Given the description of an element on the screen output the (x, y) to click on. 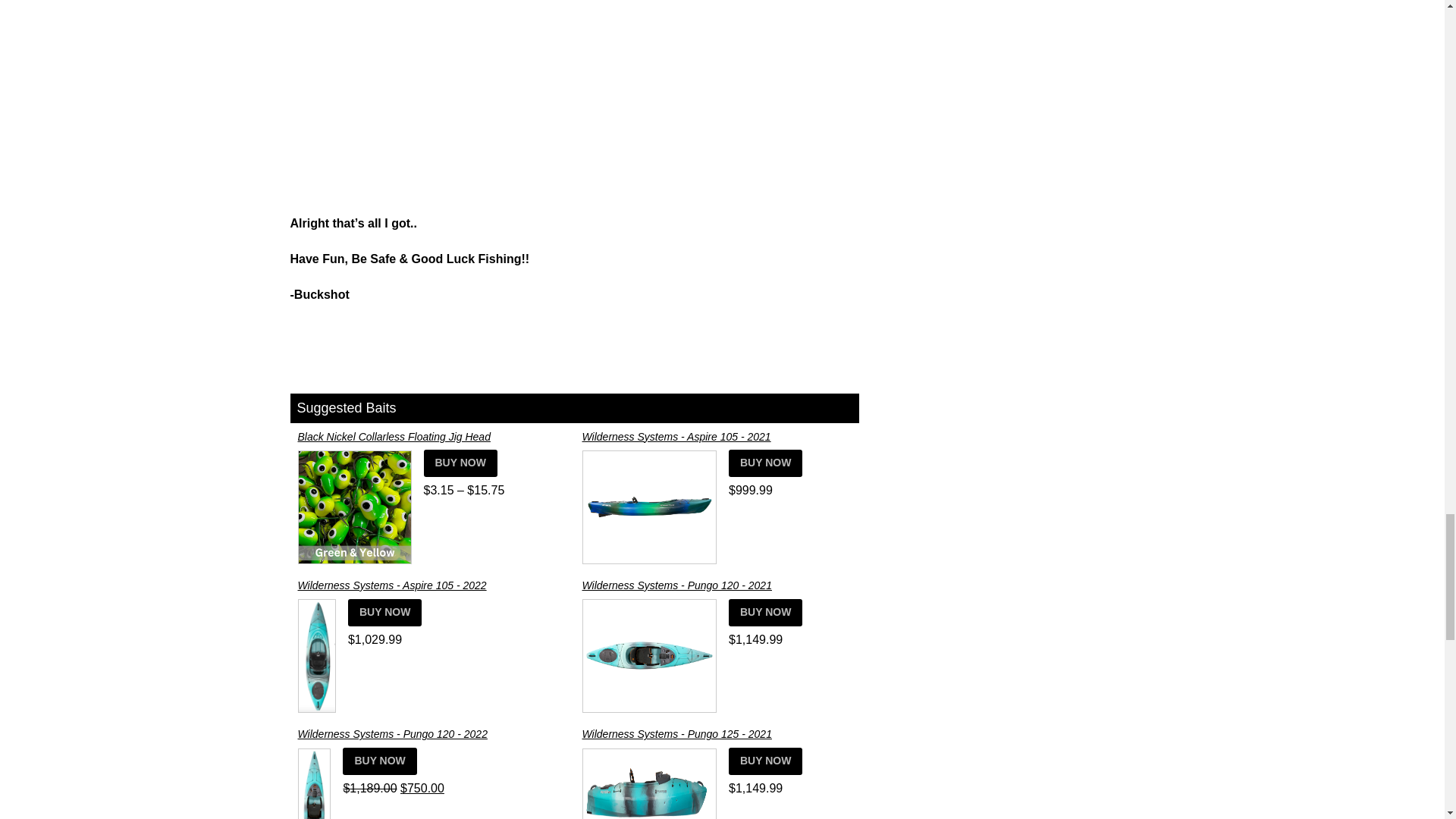
Buy Now (716, 450)
Buy Now (765, 462)
Buy Now (431, 599)
Buy Now (459, 462)
Buy Now (431, 450)
